Given the description of an element on the screen output the (x, y) to click on. 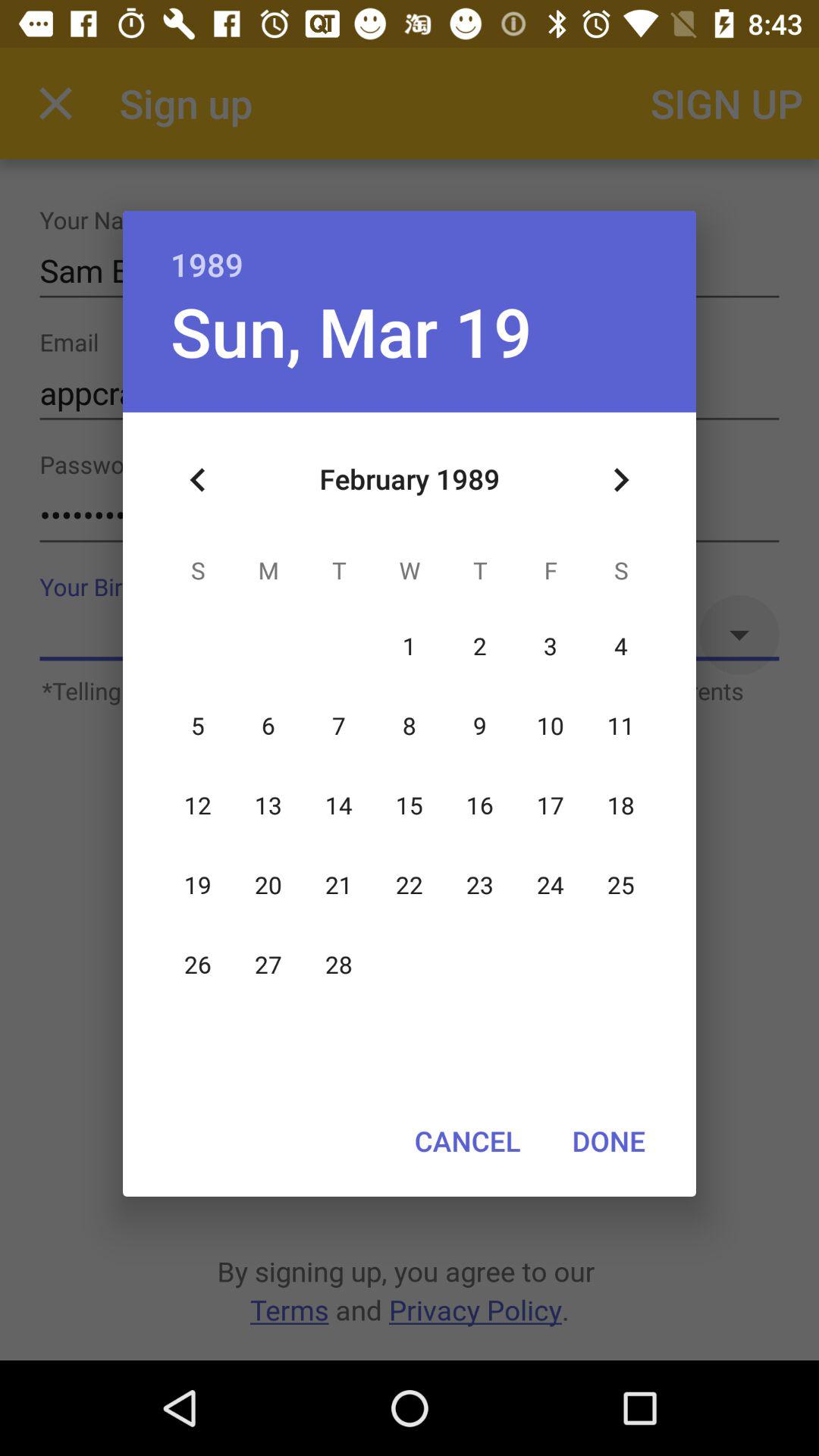
choose cancel at the bottom (467, 1140)
